Given the description of an element on the screen output the (x, y) to click on. 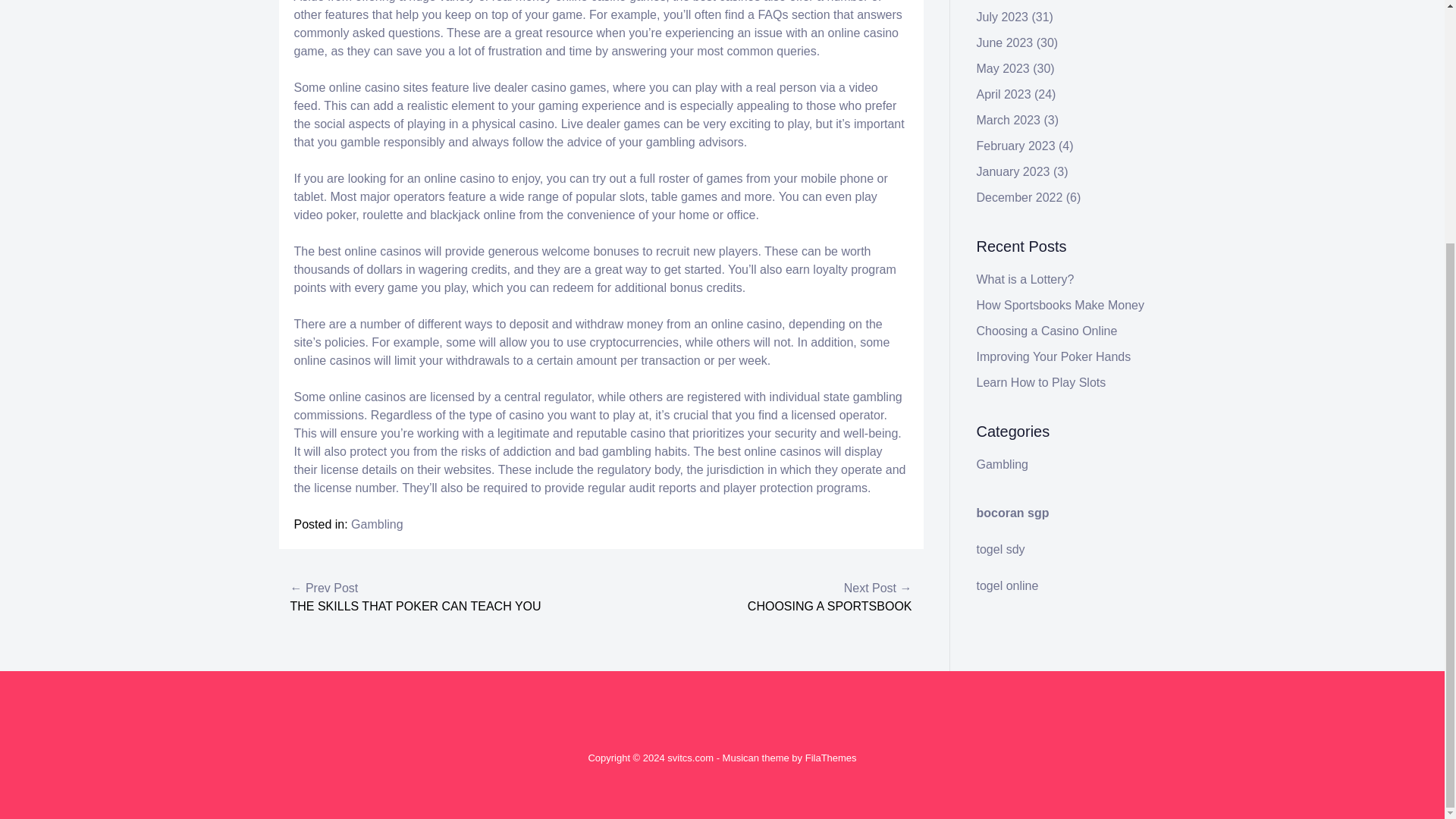
svitcs.com (689, 757)
FilaThemes (831, 757)
How Sportsbooks Make Money (1060, 305)
February 2023 (1015, 145)
June 2023 (1004, 42)
togel online (1007, 585)
May 2023 (1002, 68)
bocoran sgp (1012, 512)
Learn How to Play Slots (1041, 382)
January 2023 (1012, 171)
Gambling (376, 523)
svitcs.com (689, 757)
What is a Lottery? (1025, 278)
April 2023 (1003, 93)
July 2023 (1002, 16)
